Given the description of an element on the screen output the (x, y) to click on. 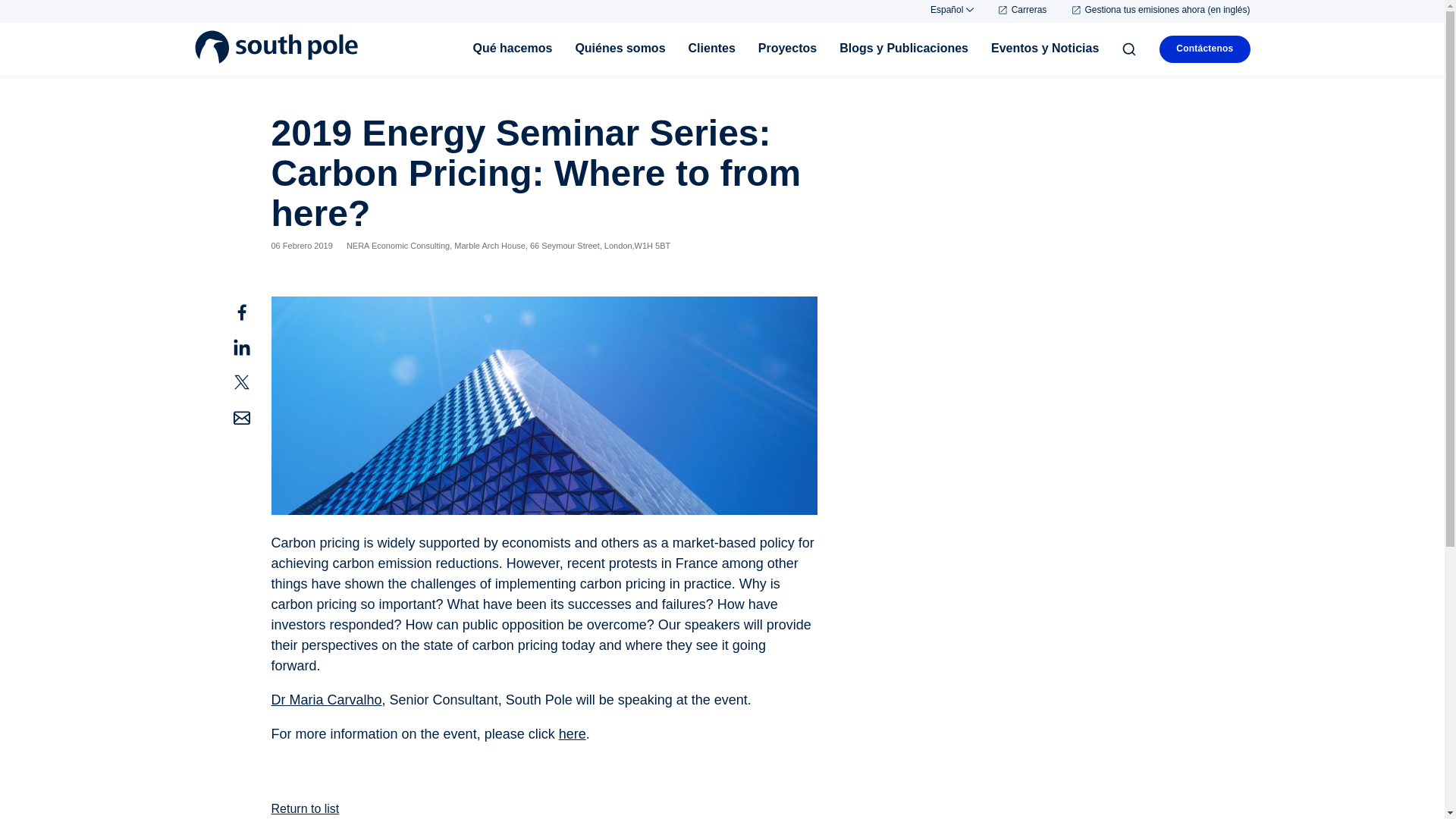
Blogs y Publicaciones (904, 47)
linkedIn (251, 348)
Facebook (251, 313)
Proyectos (787, 47)
Clientes (711, 47)
Share by E-Mail (251, 419)
Eventos y Noticias (1045, 47)
Carreras (1020, 9)
Twitter (251, 383)
